Given the description of an element on the screen output the (x, y) to click on. 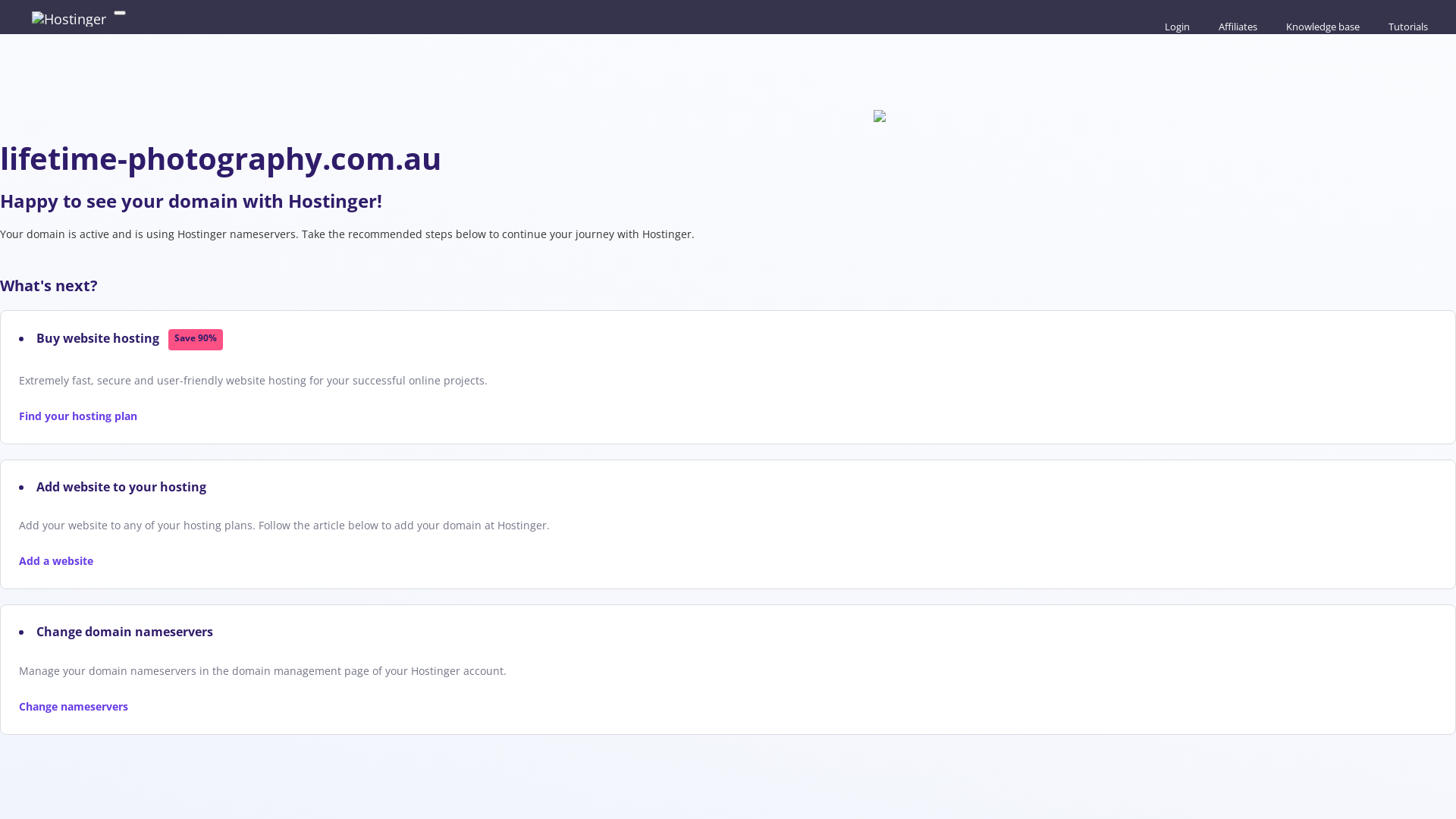
Login Element type: text (1175, 26)
Affiliates Element type: text (1236, 26)
Find your hosting plan Element type: text (77, 415)
Knowledge base Element type: text (1320, 26)
Tutorials Element type: text (1405, 26)
Add a website Element type: text (55, 560)
Change nameservers Element type: text (73, 706)
